Given the description of an element on the screen output the (x, y) to click on. 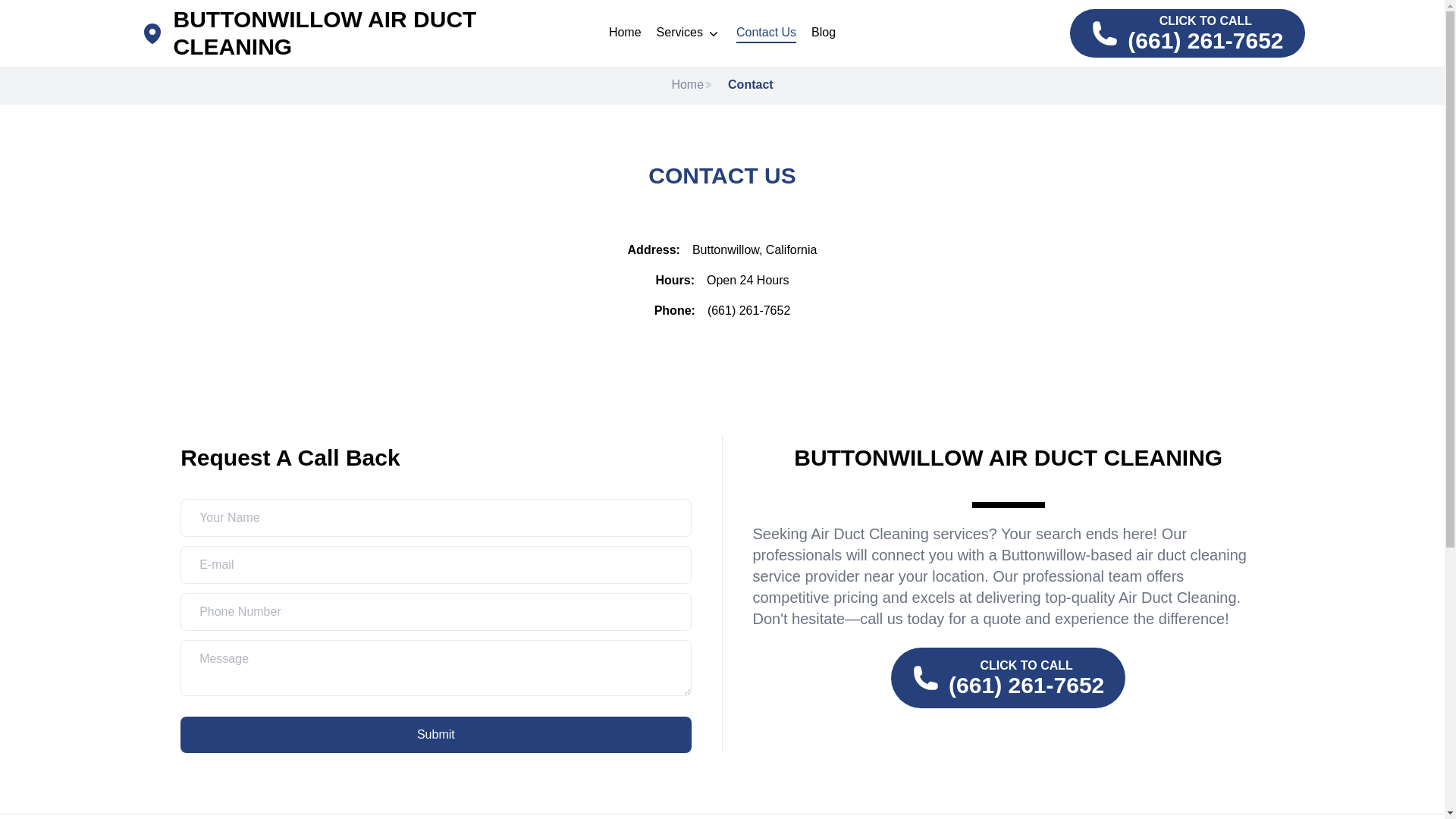
map link (156, 33)
Home (625, 33)
Click to call us (1008, 677)
Blog (822, 33)
Home (692, 85)
BUTTONWILLOW AIR DUCT CLEANING (350, 32)
Services (688, 33)
Submit (435, 734)
Click to call us (1187, 33)
Contact Us (766, 33)
